Given the description of an element on the screen output the (x, y) to click on. 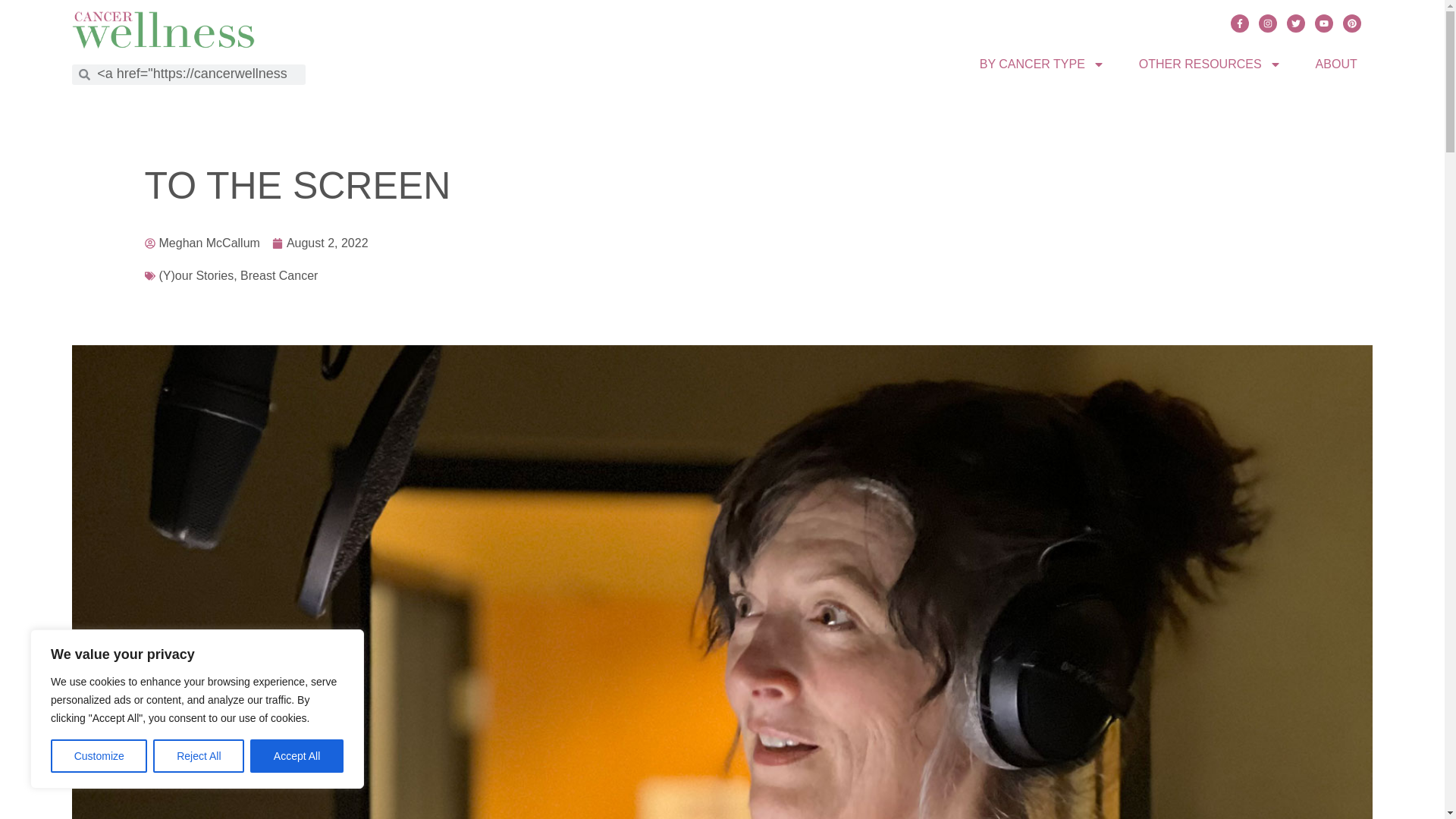
BY CANCER TYPE (1041, 63)
Accept All (296, 756)
Reject All (198, 756)
Customize (98, 756)
